Given the description of an element on the screen output the (x, y) to click on. 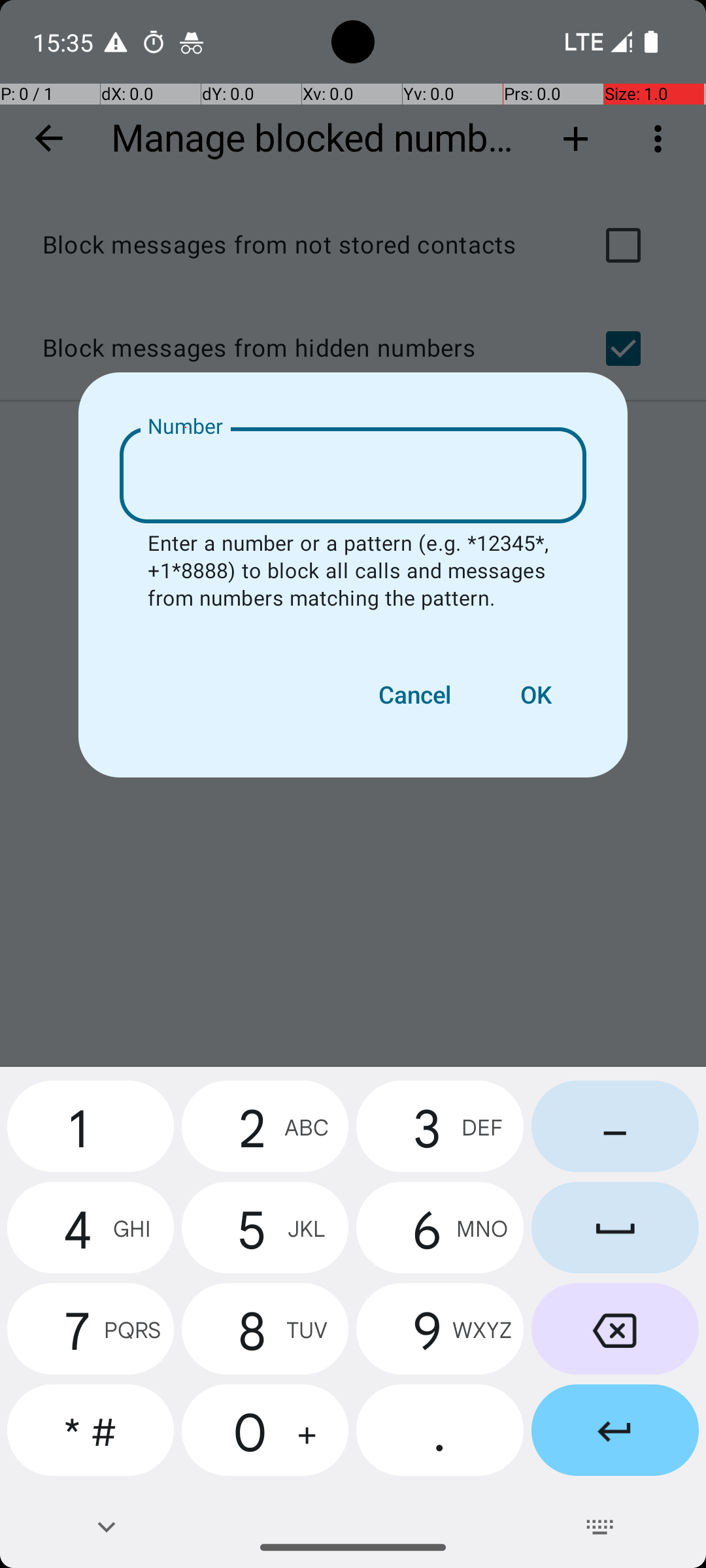
Number Element type: android.widget.TextView (185, 427)
Enter a number or a pattern (e.g. *12345*, +1*8888) to block all calls and messages from numbers matching the pattern. Element type: android.widget.TextView (352, 571)
